Given the description of an element on the screen output the (x, y) to click on. 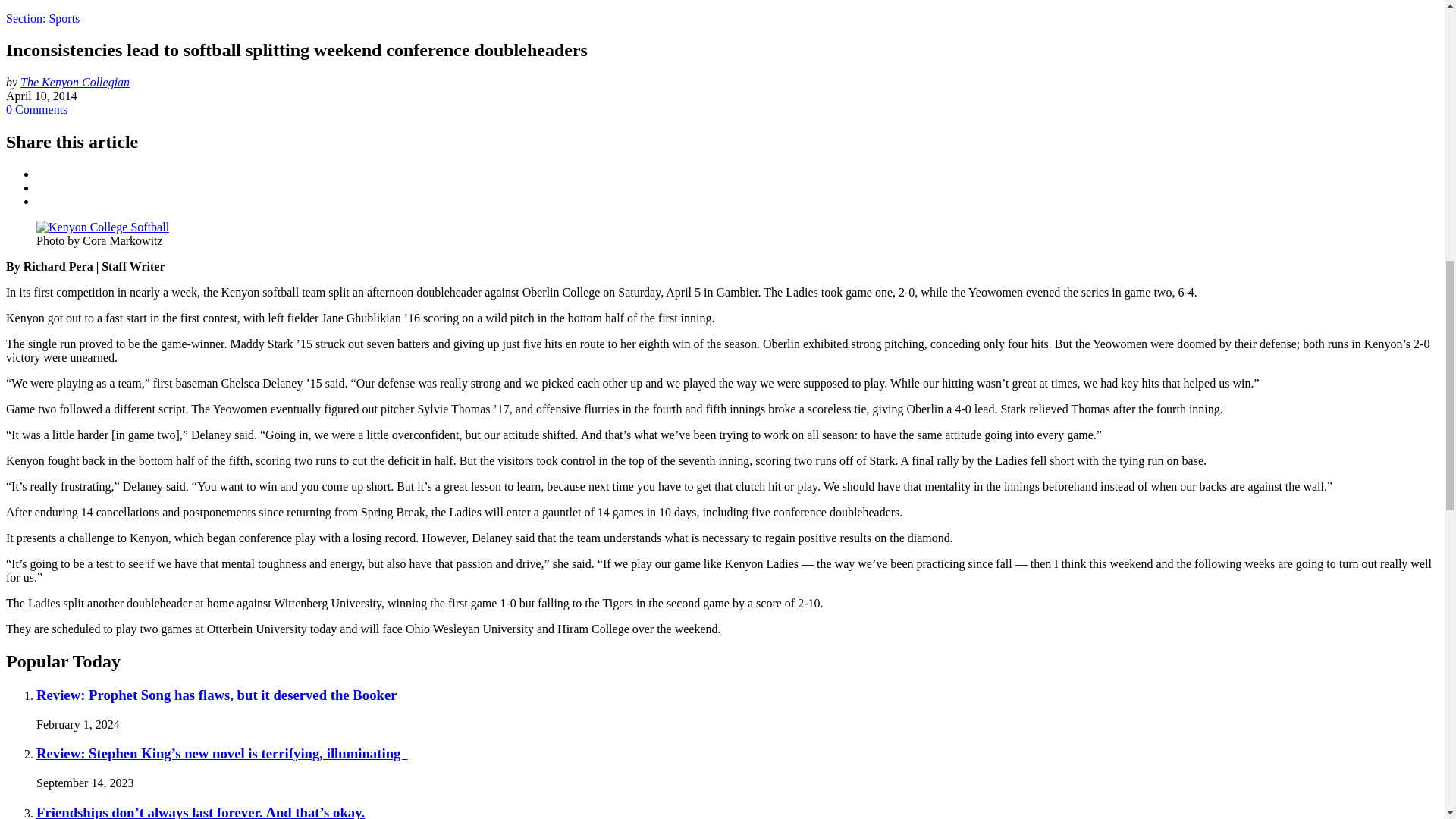
0 Comments (35, 109)
The Kenyon Collegian (74, 82)
Review: Prophet Song has flaws, but it deserved the Booker (216, 694)
Section: Sports (42, 18)
